Given the description of an element on the screen output the (x, y) to click on. 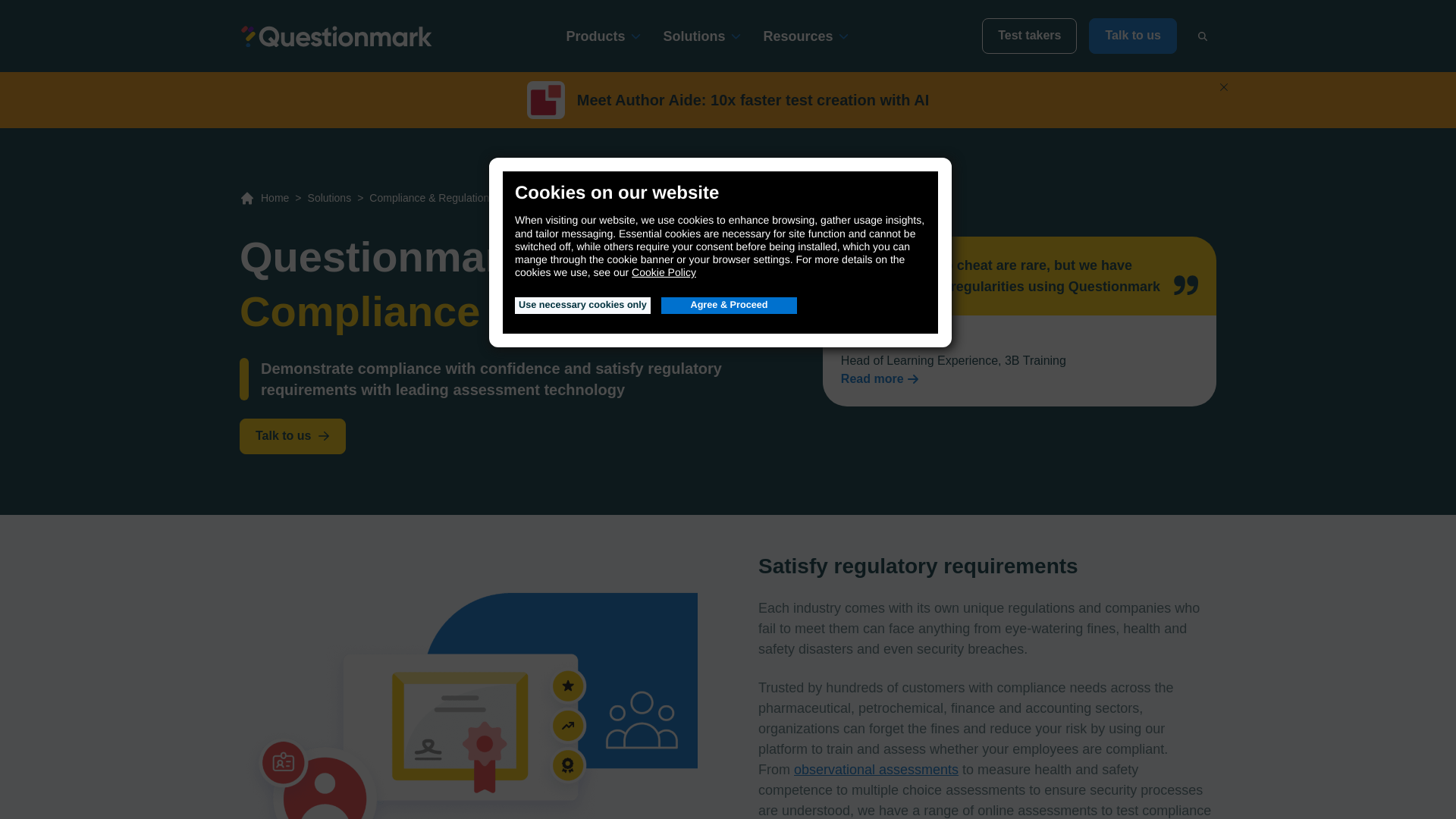
Cookie Policy (663, 272)
Use necessary cookies only (582, 305)
